Given the description of an element on the screen output the (x, y) to click on. 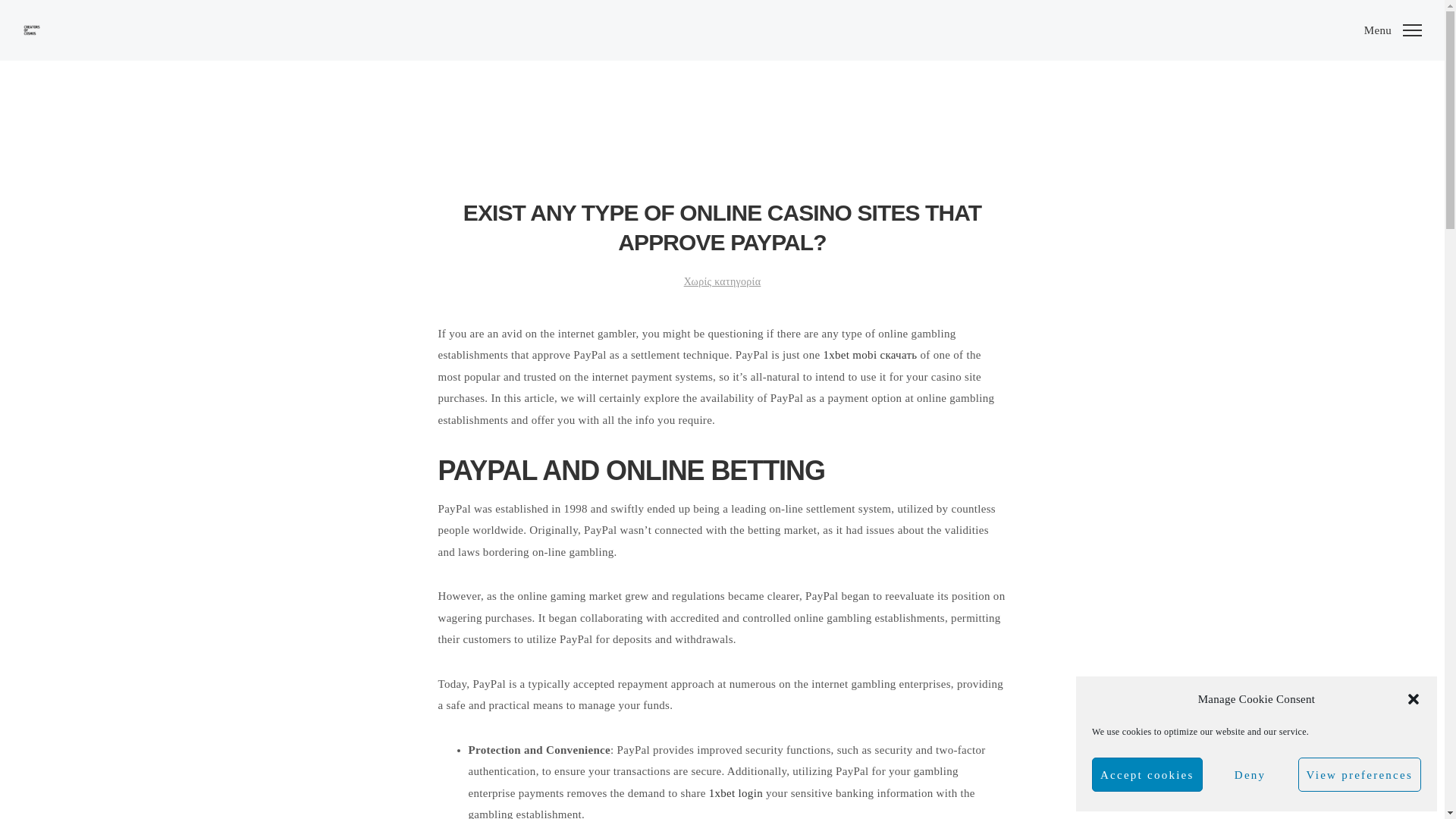
View preferences (1359, 774)
1xbet login (735, 793)
Deny (1249, 774)
Accept cookies (1147, 774)
Creators of Cosmos (31, 30)
